Given the description of an element on the screen output the (x, y) to click on. 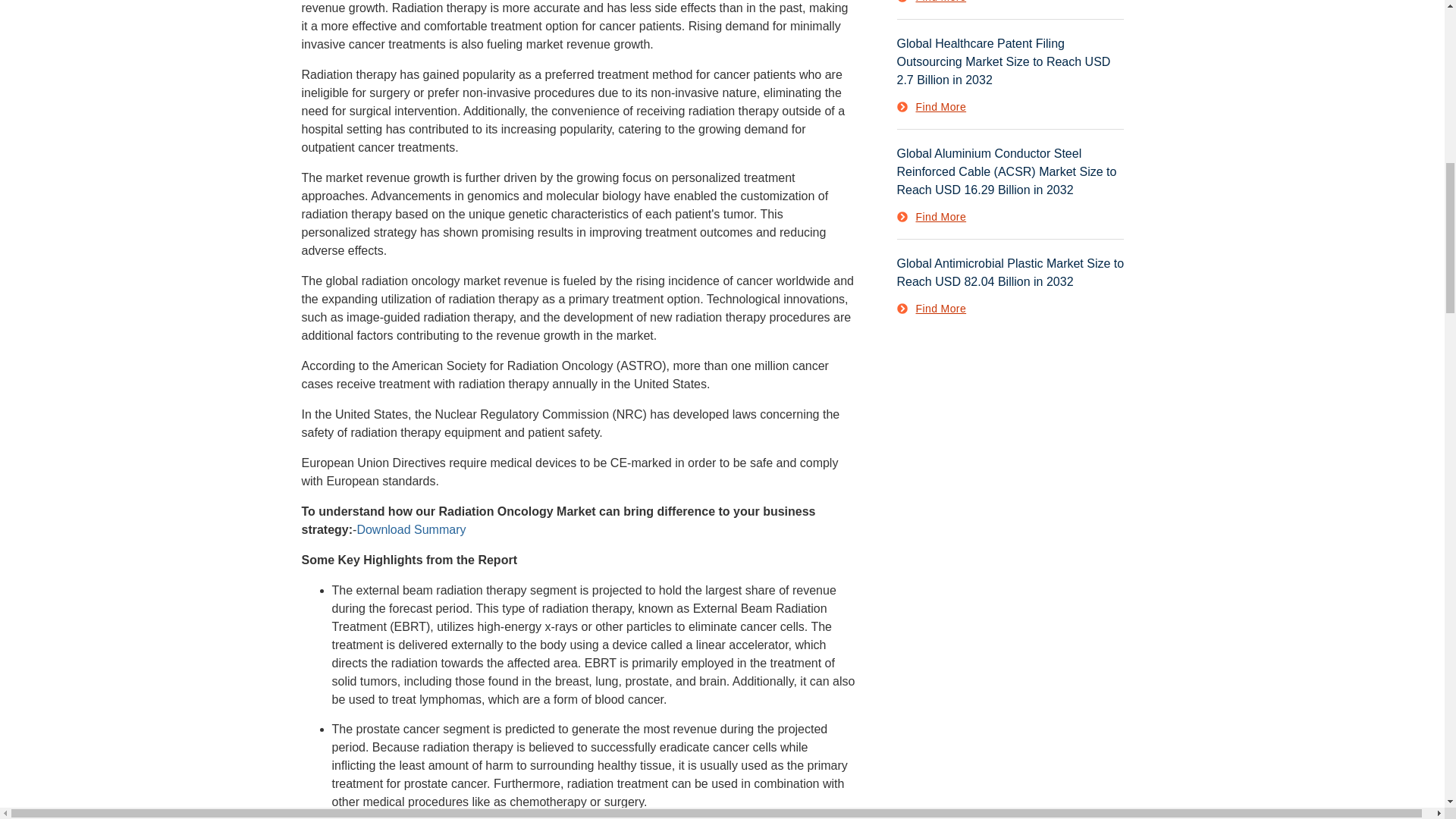
Download Summary (410, 529)
